Given the description of an element on the screen output the (x, y) to click on. 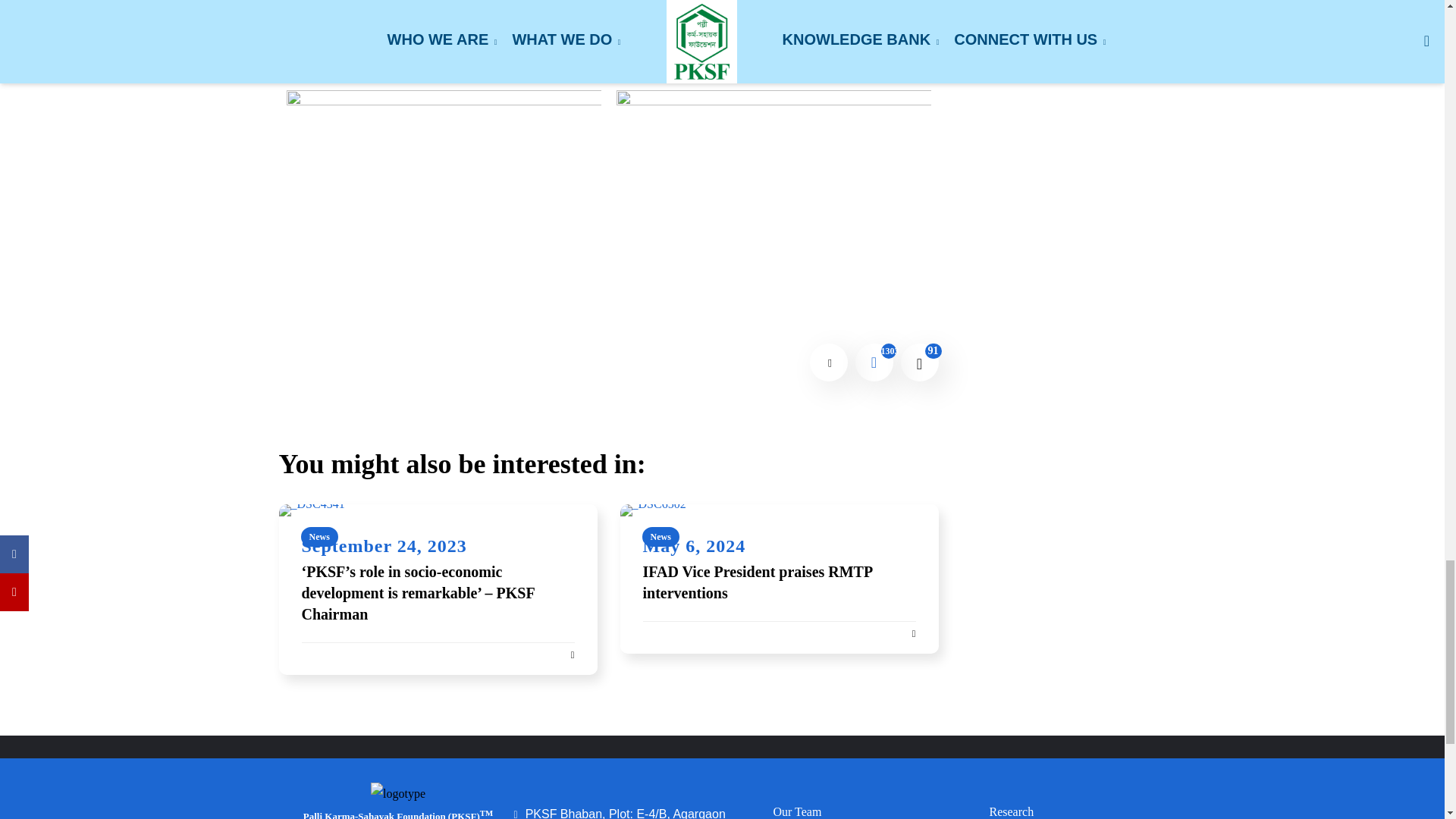
Total Views (874, 362)
Like (920, 362)
